Given the description of an element on the screen output the (x, y) to click on. 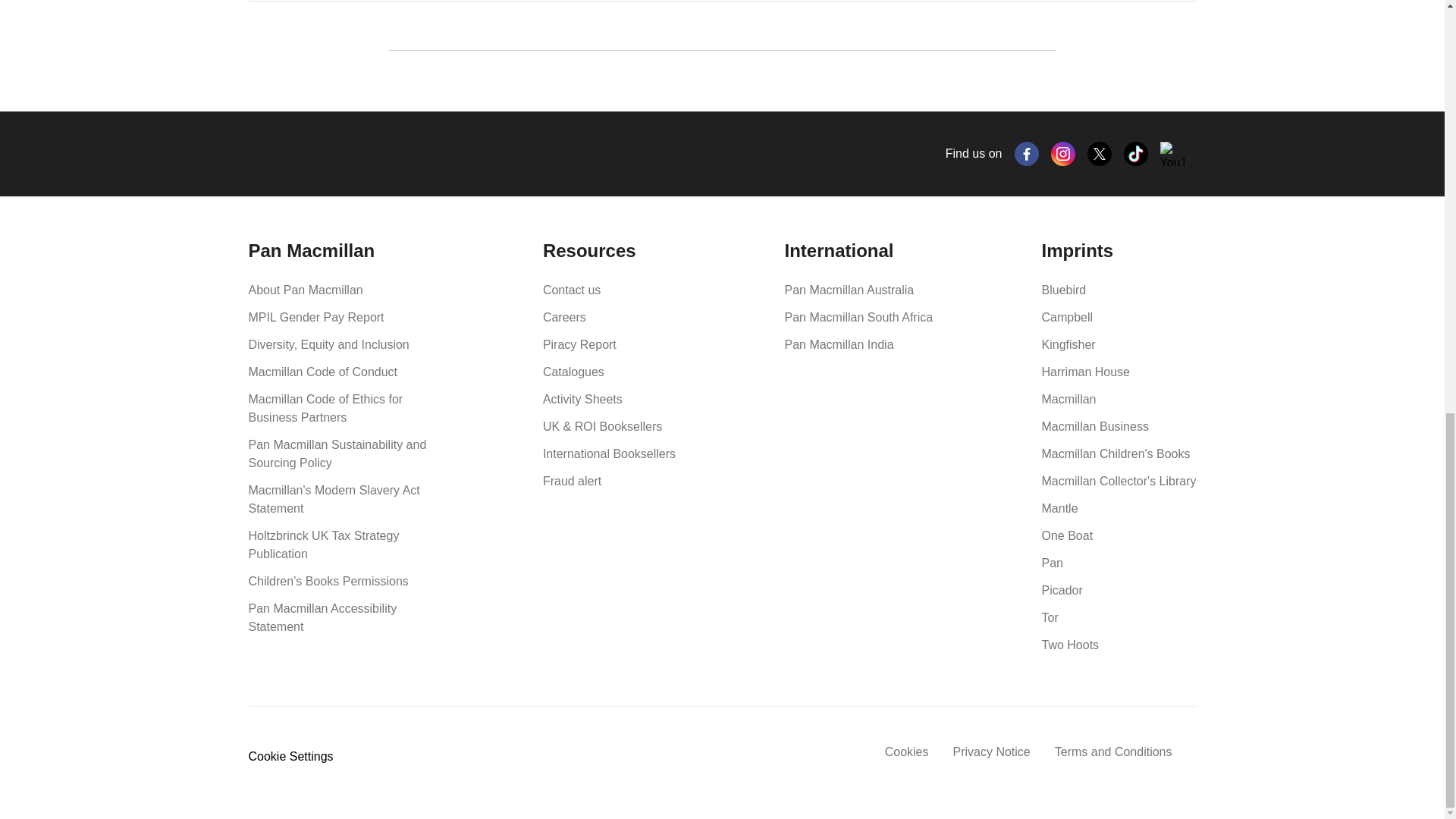
Instagram (1063, 153)
Facebook (1026, 153)
YouTube (1172, 153)
TikTok (1136, 153)
